Given the description of an element on the screen output the (x, y) to click on. 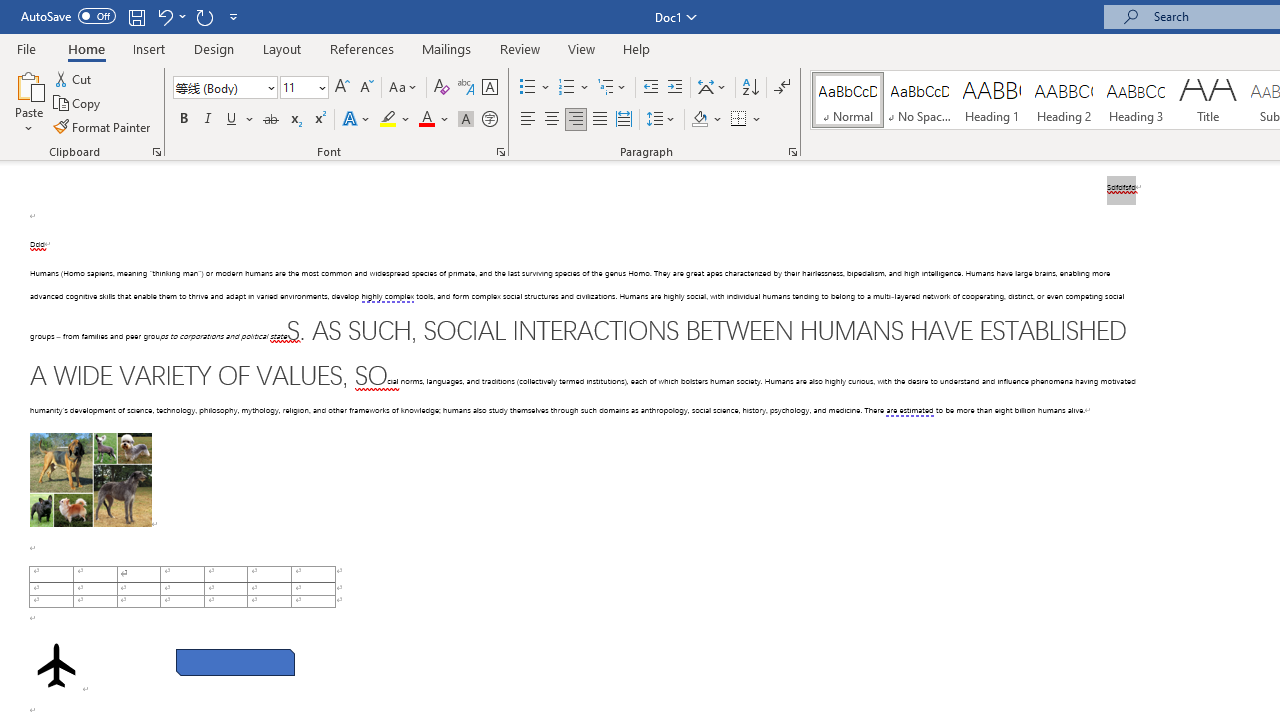
Airplane with solid fill (56, 665)
Rectangle: Diagonal Corners Snipped 2 (235, 662)
Heading 2 (1063, 100)
